Given the description of an element on the screen output the (x, y) to click on. 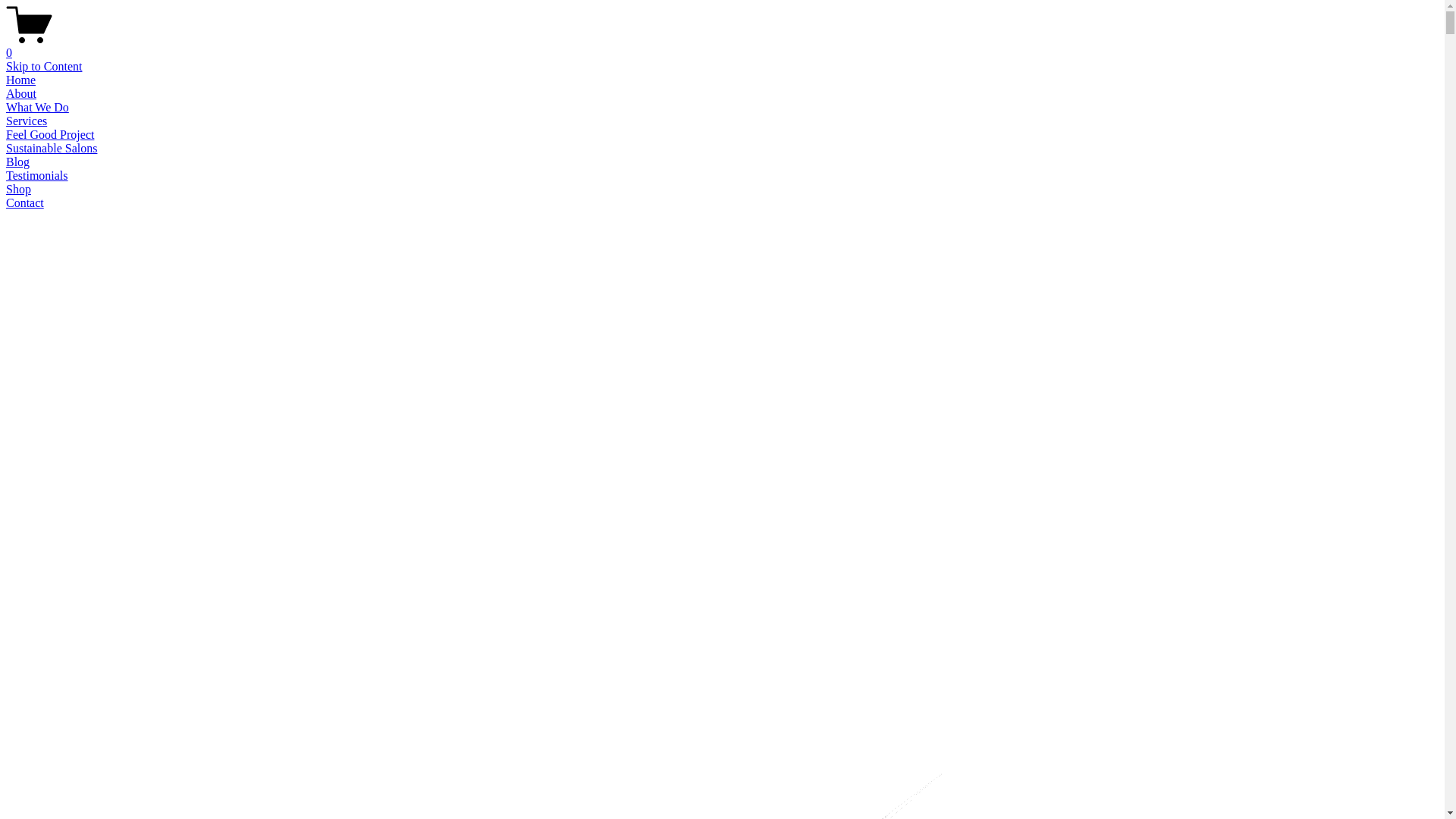
Skip to Content Element type: text (43, 65)
0 Element type: text (722, 45)
What We Do Element type: text (37, 106)
About Element type: text (21, 93)
Services Element type: text (26, 120)
Sustainable Salons Element type: text (51, 147)
Home Element type: text (20, 79)
Testimonials Element type: text (37, 175)
Contact Element type: text (24, 202)
Feel Good Project Element type: text (50, 134)
Blog Element type: text (17, 161)
Shop Element type: text (18, 188)
